Given the description of an element on the screen output the (x, y) to click on. 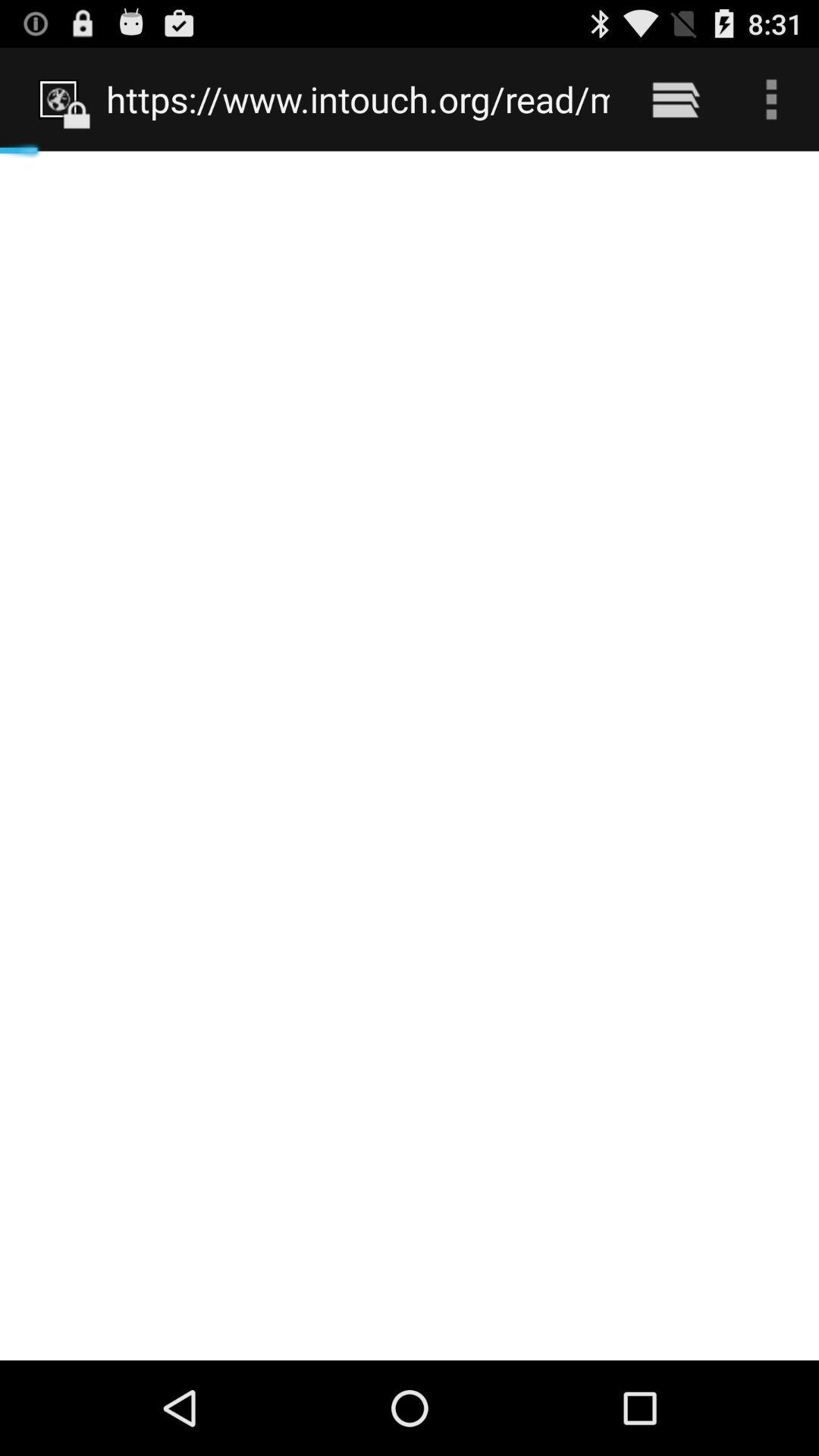
launch item to the right of the https www intouch (675, 99)
